Given the description of an element on the screen output the (x, y) to click on. 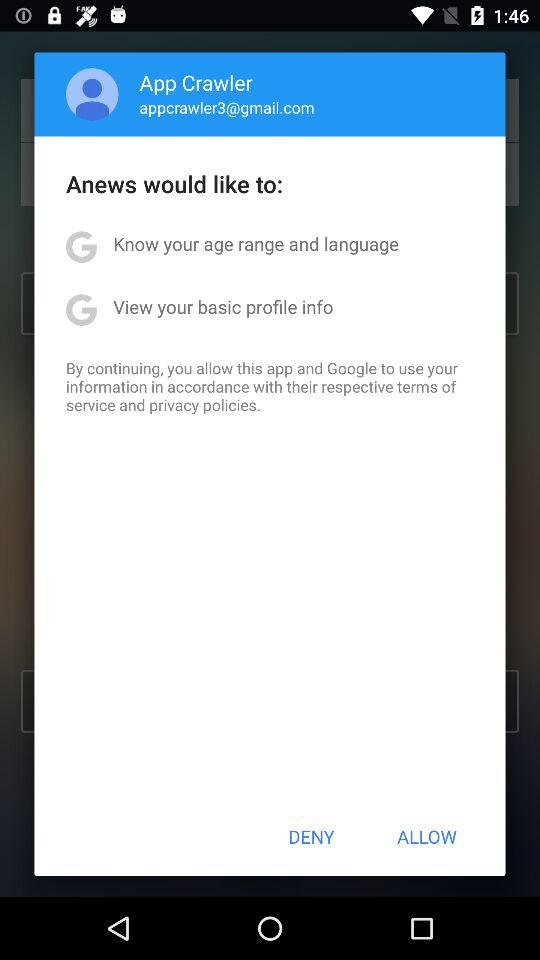
select item to the left of app crawler app (92, 94)
